Given the description of an element on the screen output the (x, y) to click on. 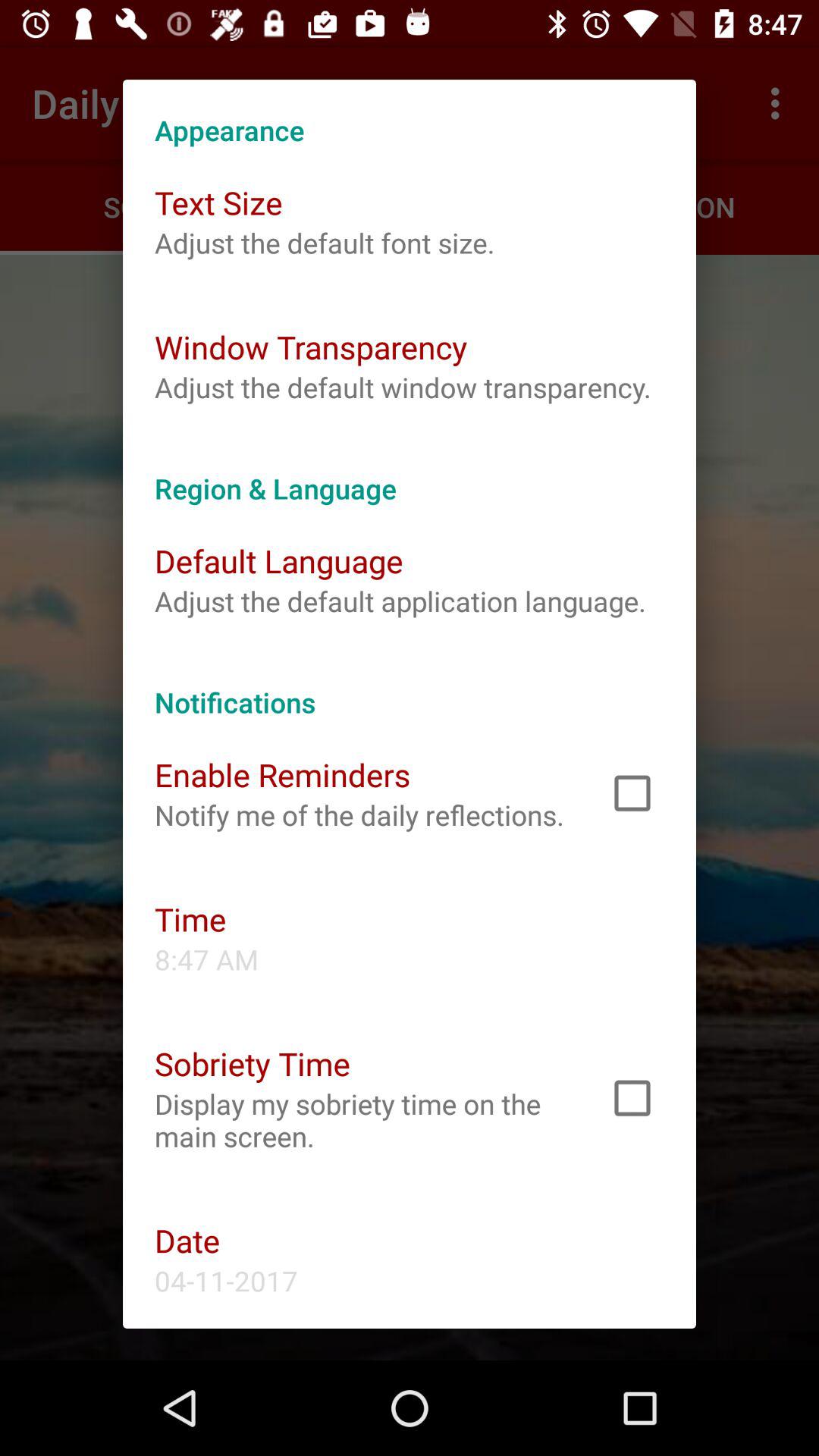
launch the 04-11-2017 (226, 1280)
